Given the description of an element on the screen output the (x, y) to click on. 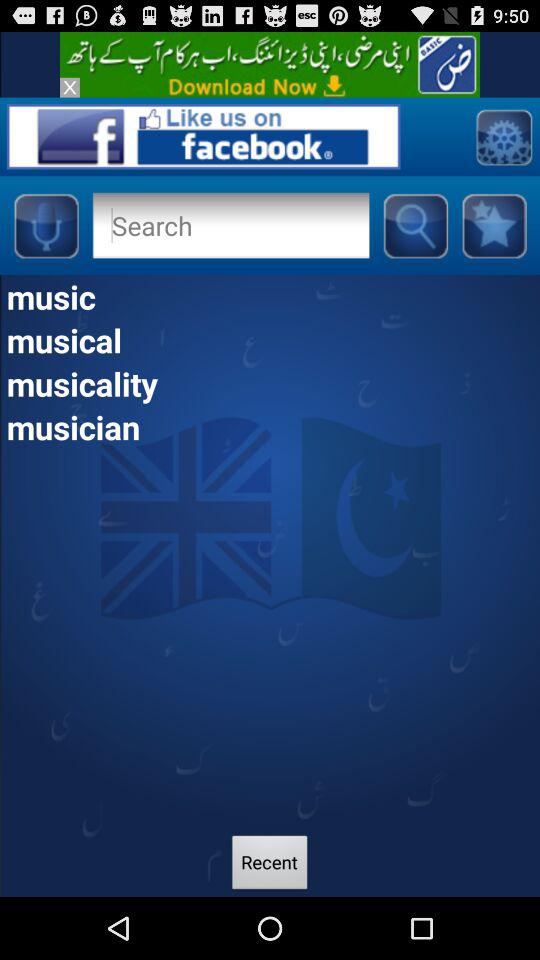
tap musical app (270, 339)
